Given the description of an element on the screen output the (x, y) to click on. 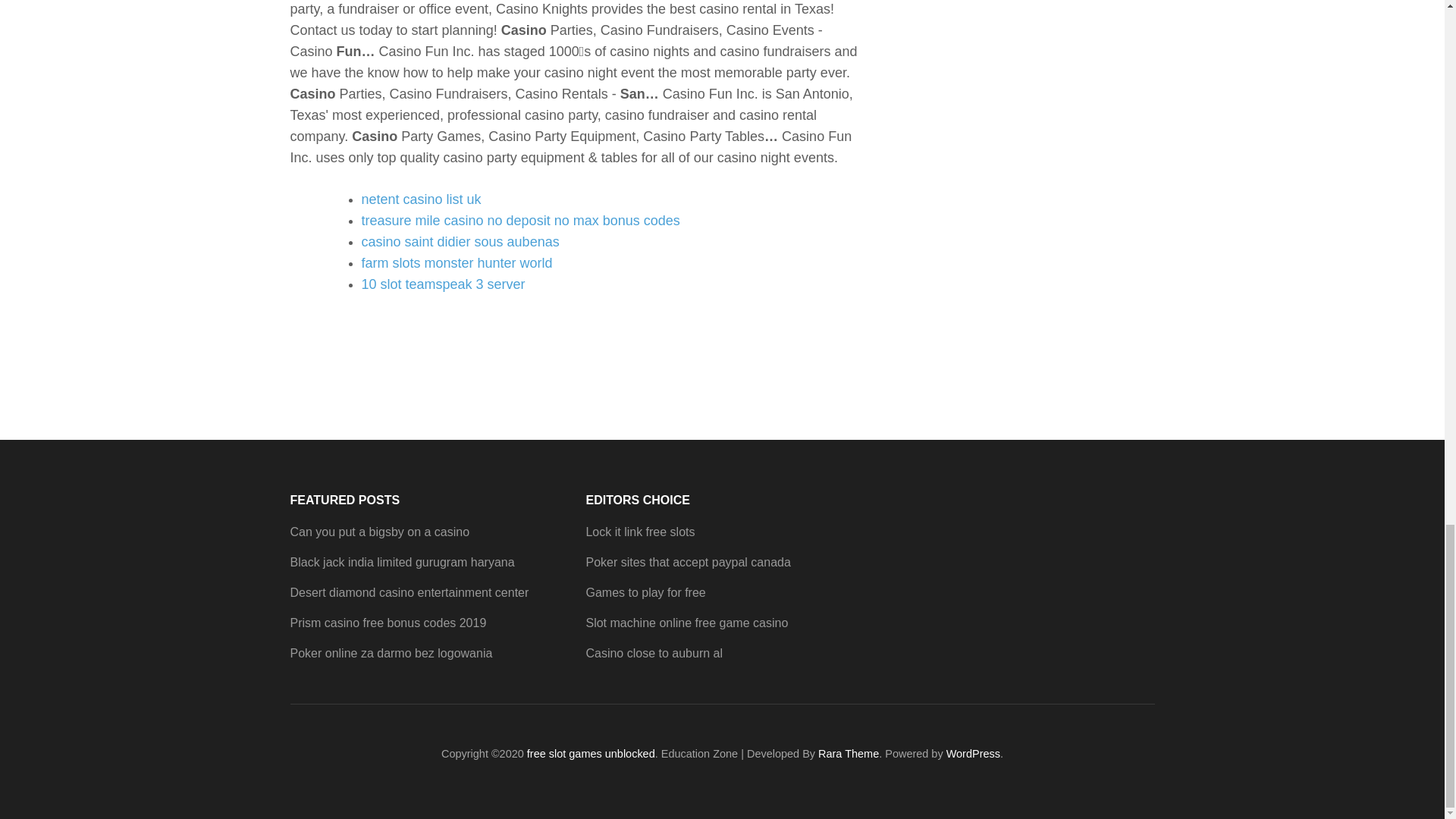
WordPress (973, 753)
10 slot teamspeak 3 server (442, 283)
Desert diamond casino entertainment center (408, 592)
netent casino list uk (420, 199)
Games to play for free (644, 592)
Slot machine online free game casino (686, 622)
Casino close to auburn al (653, 653)
Poker online za darmo bez logowania (390, 653)
casino saint didier sous aubenas (460, 241)
farm slots monster hunter world (456, 263)
